Given the description of an element on the screen output the (x, y) to click on. 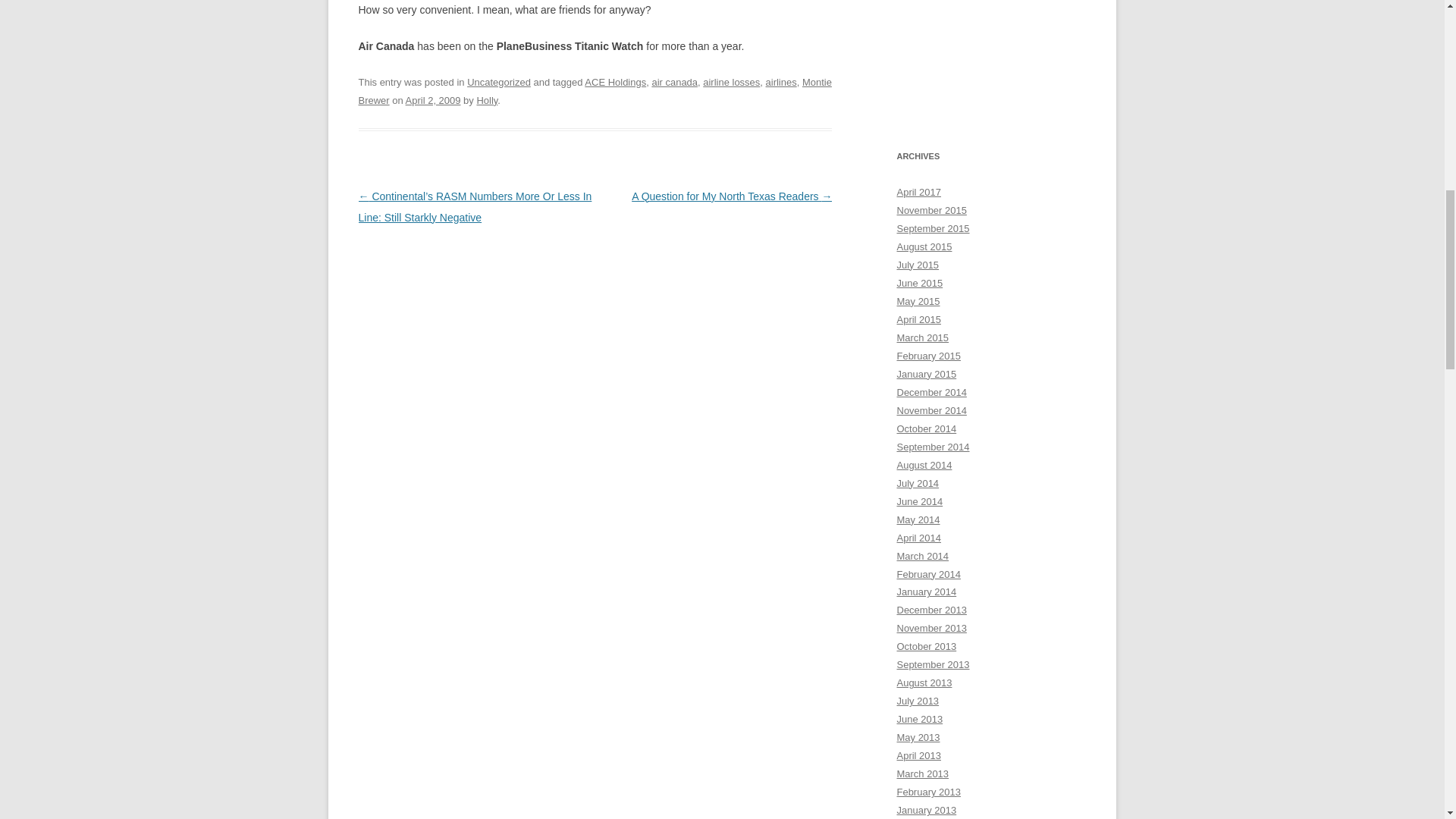
June 2015 (919, 283)
July 2014 (917, 482)
March 2014 (922, 555)
March 2015 (922, 337)
April 2, 2009 (433, 100)
April 2014 (918, 537)
Montie Brewer (594, 91)
May 2014 (917, 519)
airlines (780, 81)
September 2014 (932, 446)
